Given the description of an element on the screen output the (x, y) to click on. 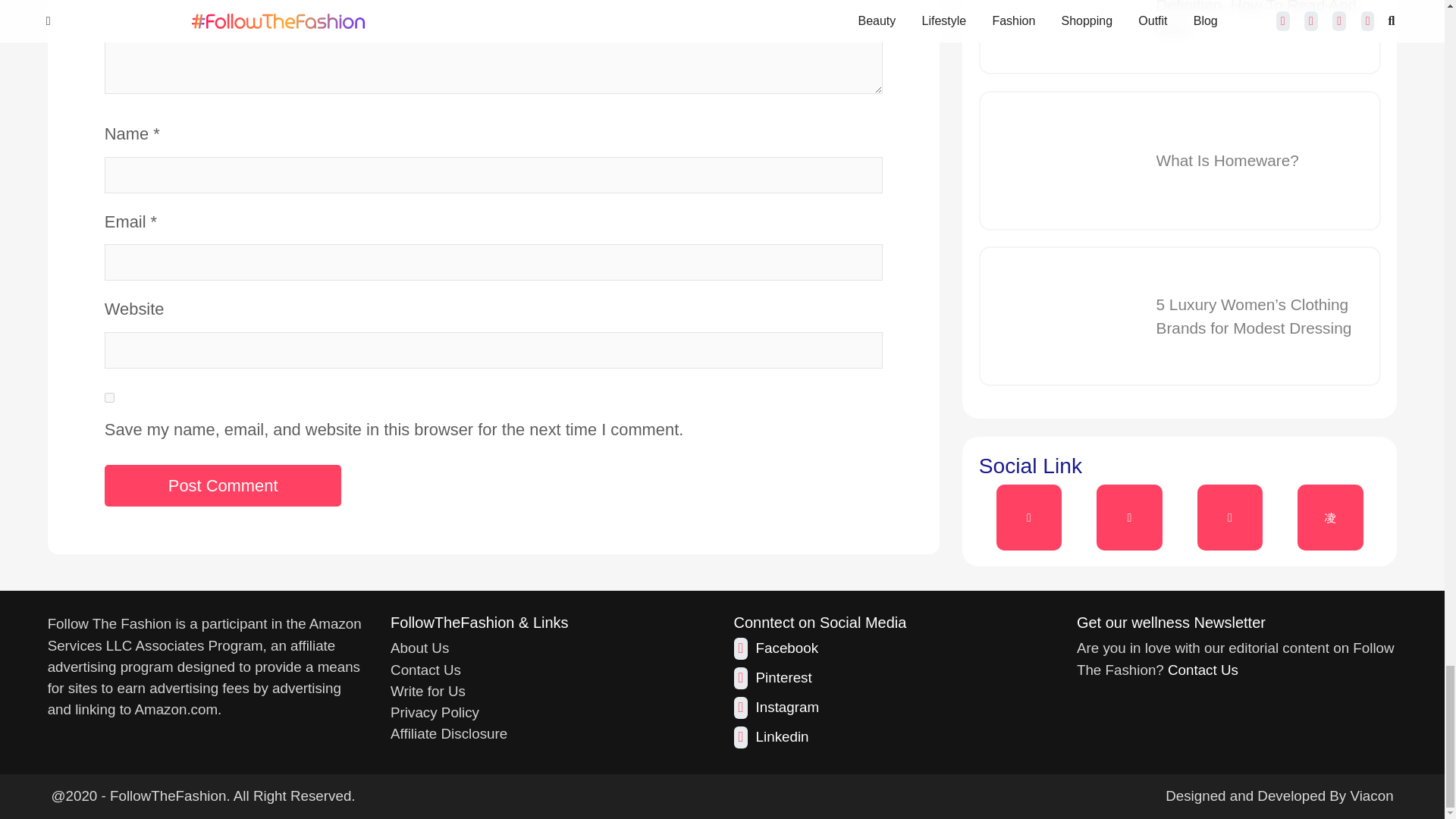
yes (109, 397)
Post Comment (223, 485)
